Given the description of an element on the screen output the (x, y) to click on. 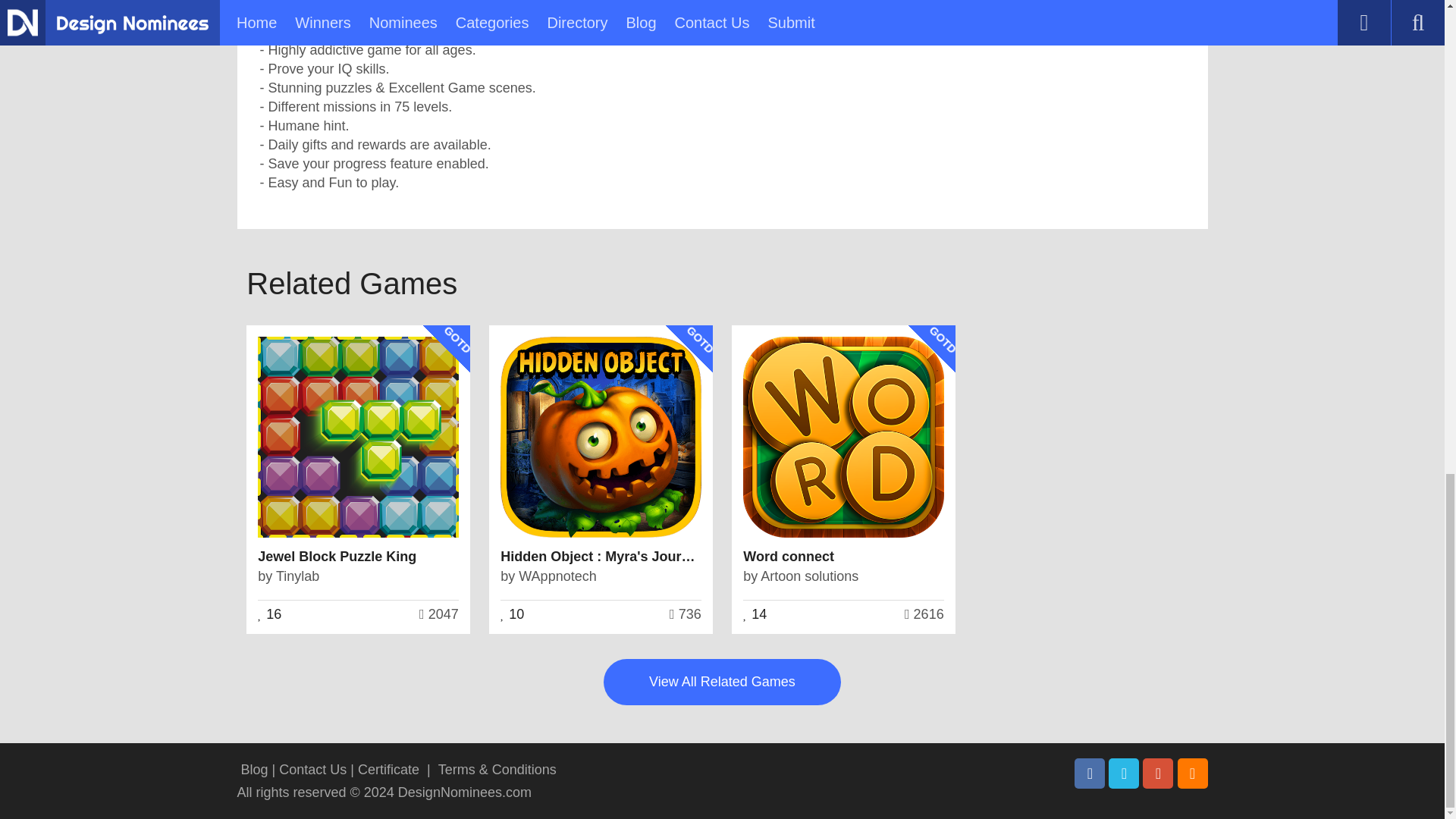
Twitter (1123, 773)
Facebook (1089, 773)
Pinterest (1157, 773)
Rss (1191, 773)
